Given the description of an element on the screen output the (x, y) to click on. 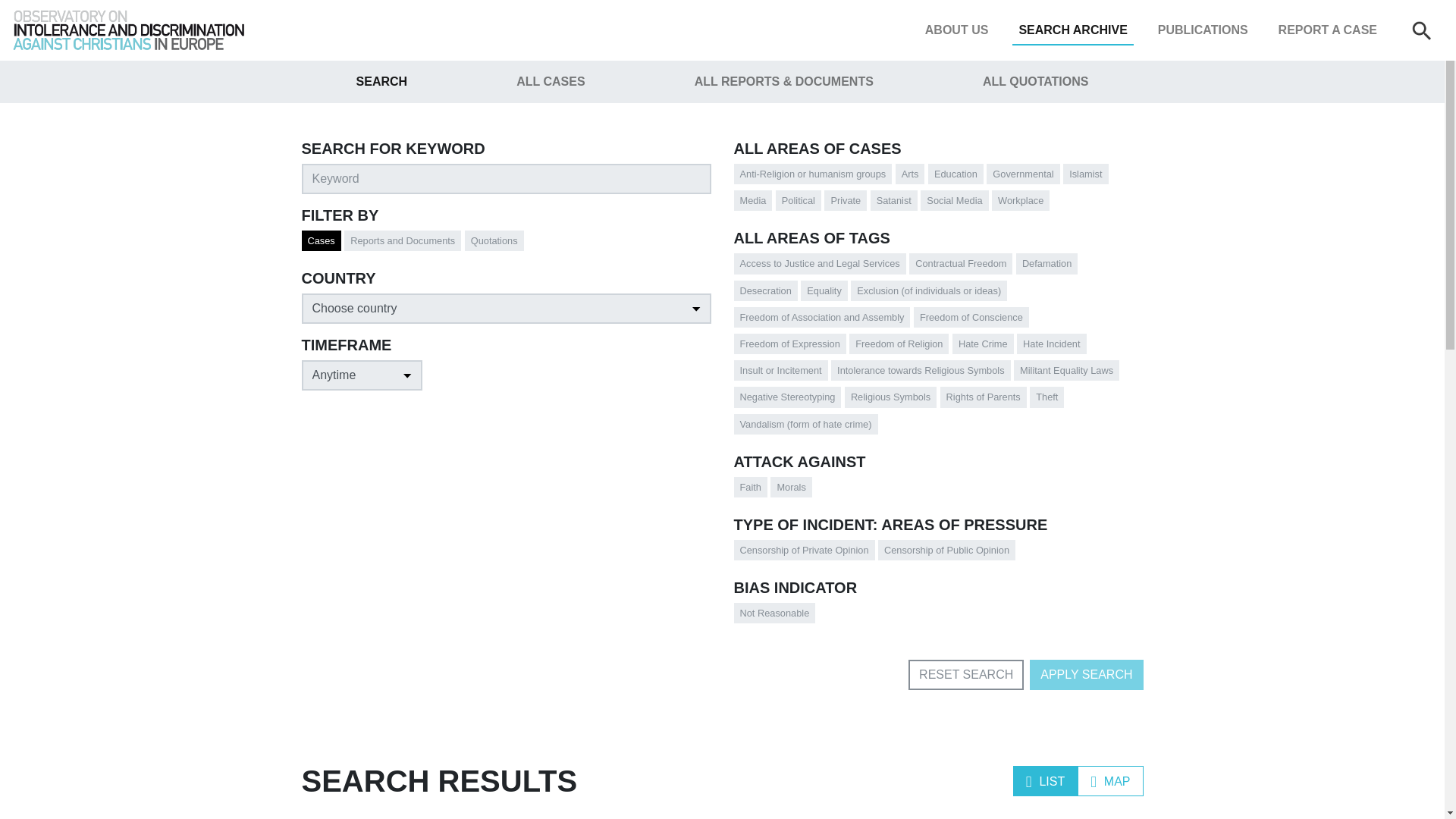
7 (811, 288)
28 (938, 171)
5 (997, 171)
31 (786, 198)
91 (931, 198)
REPORT A CASE (1327, 30)
32 (1073, 171)
cases (312, 238)
Publications (1202, 30)
29 (906, 171)
